Given the description of an element on the screen output the (x, y) to click on. 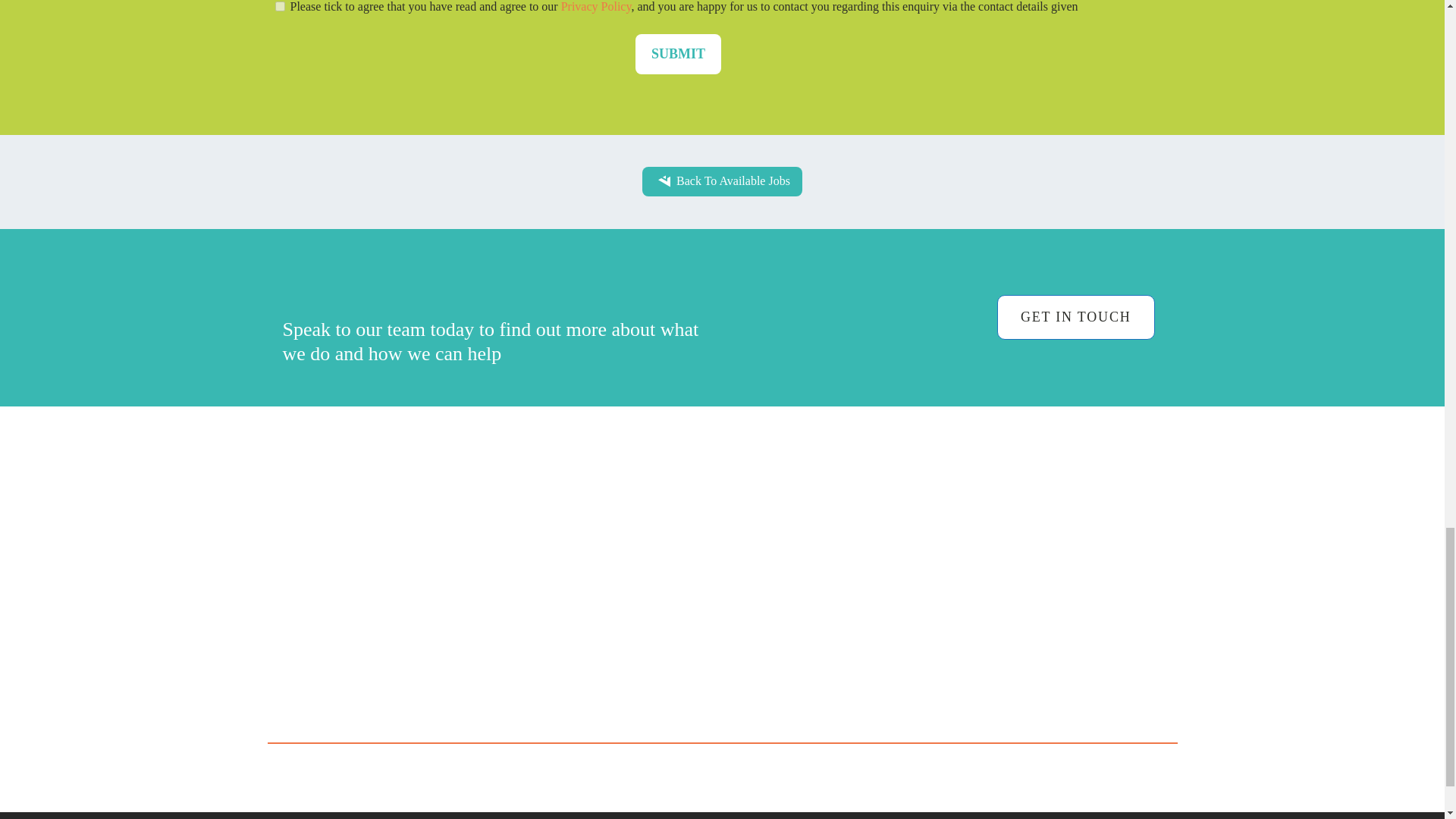
SUBMIT (677, 54)
on (279, 6)
Back To Available Jobs (722, 181)
Privacy Policy (595, 6)
GET IN TOUCH (1075, 317)
